Given the description of an element on the screen output the (x, y) to click on. 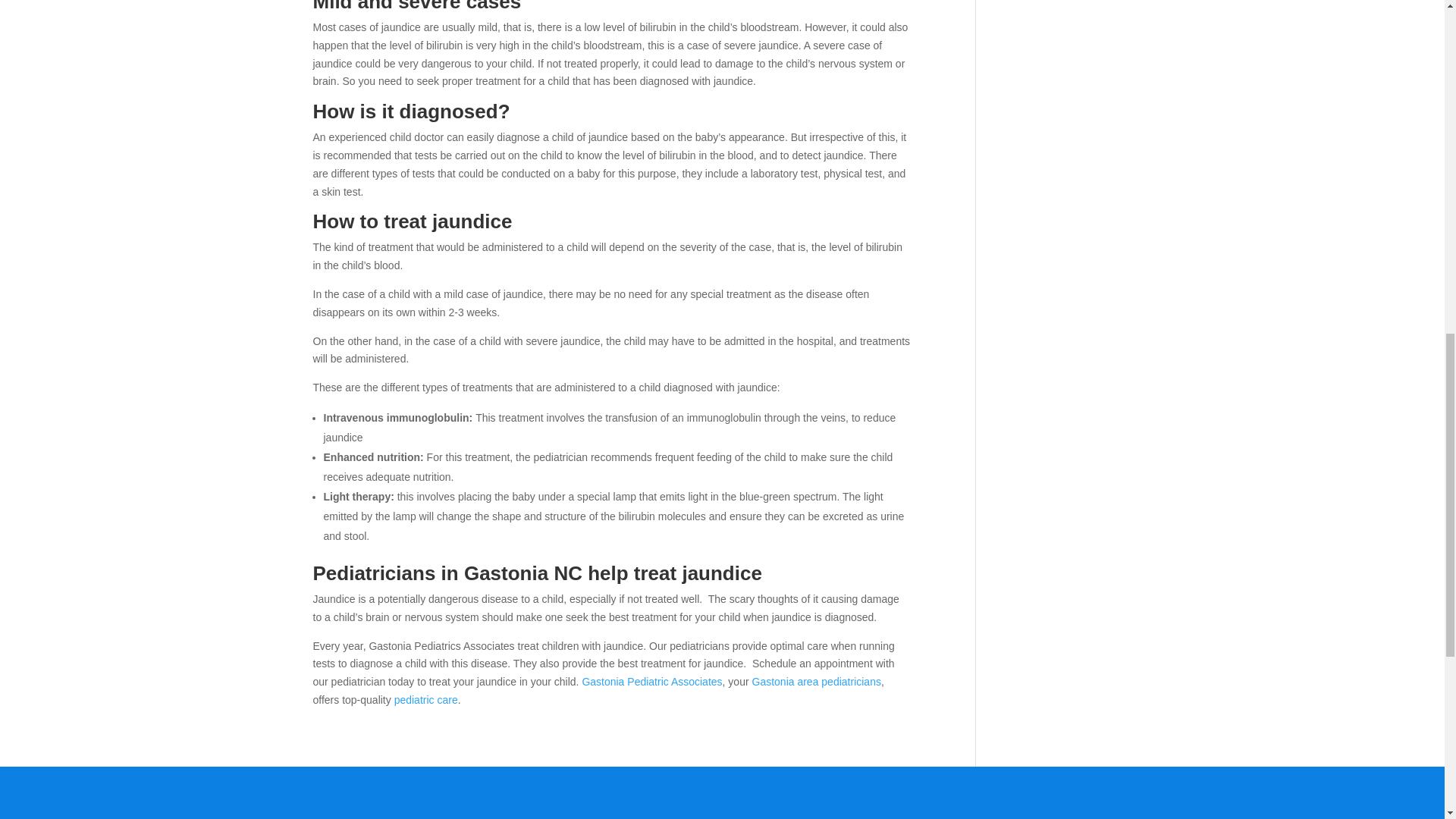
pediatric care (426, 699)
Gastonia Pediatric Associates (651, 681)
Gastonia area pediatricians (816, 681)
